Given the description of an element on the screen output the (x, y) to click on. 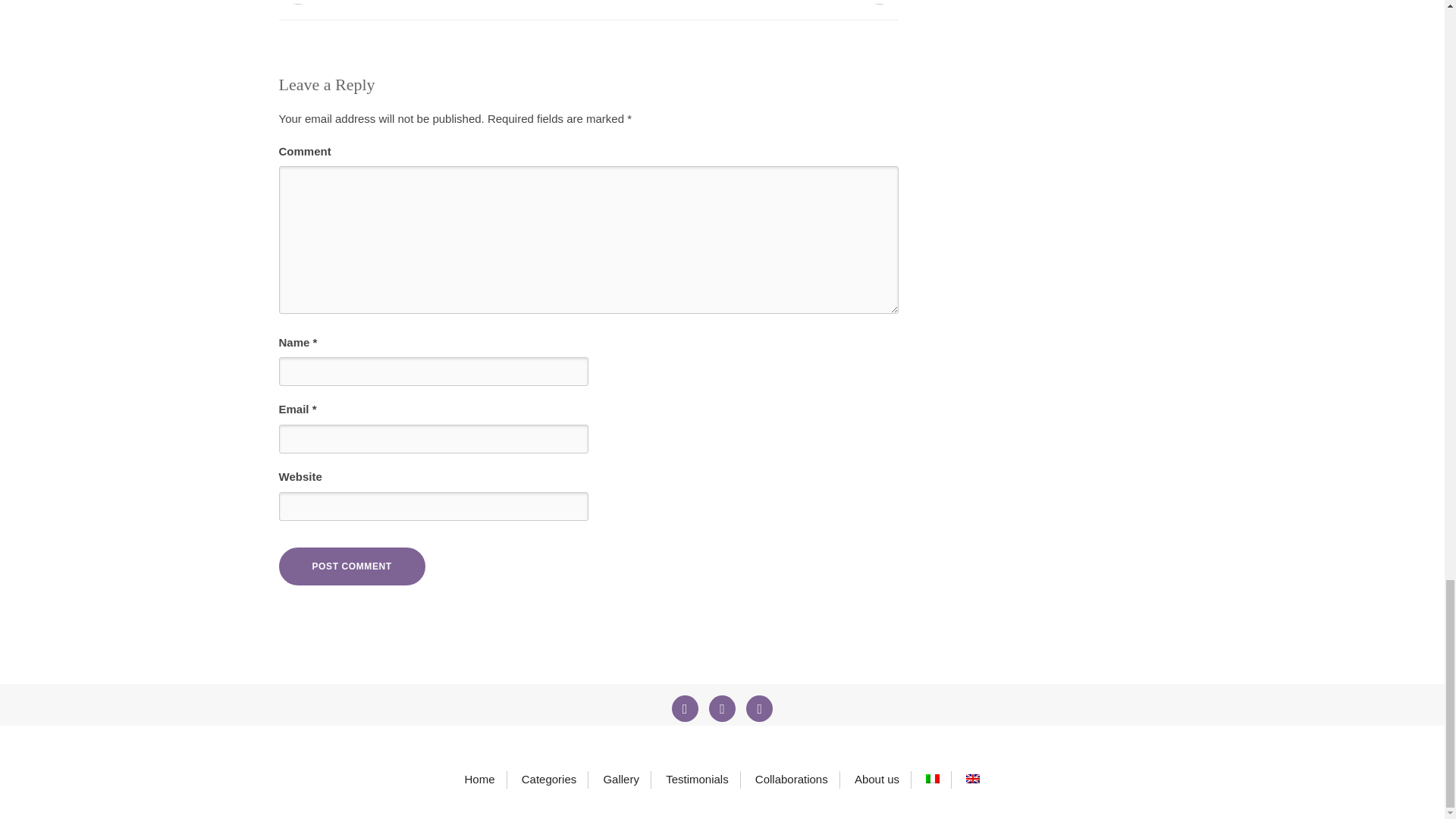
Italiano (932, 777)
Post Comment (352, 566)
English (972, 777)
